Given the description of an element on the screen output the (x, y) to click on. 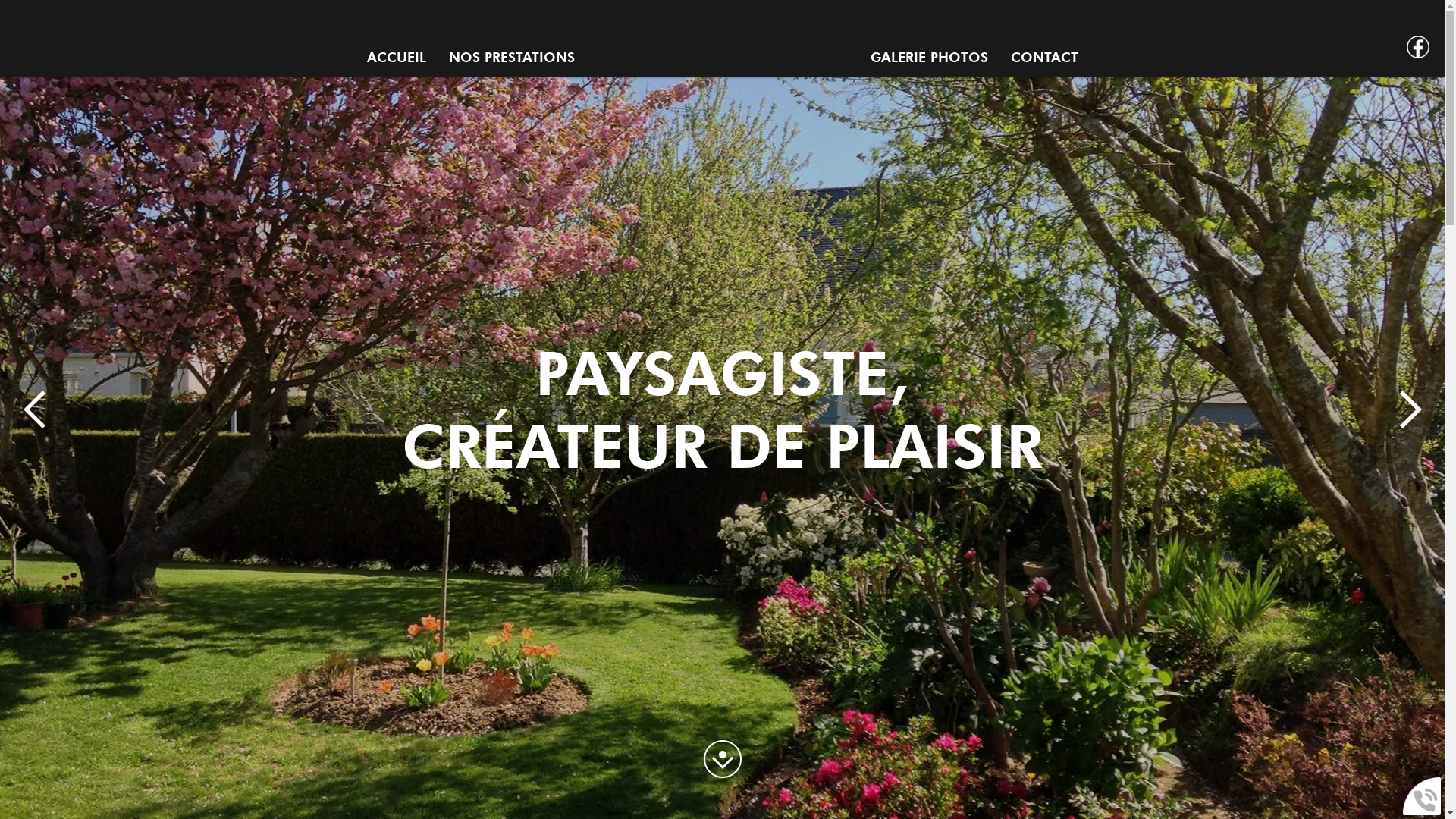
GALERIE PHOTOS Element type: text (929, 57)
CONTACT Element type: text (1043, 57)
ACCUEIL Element type: text (396, 57)
NOS PRESTATIONS Element type: text (511, 57)
